Given the description of an element on the screen output the (x, y) to click on. 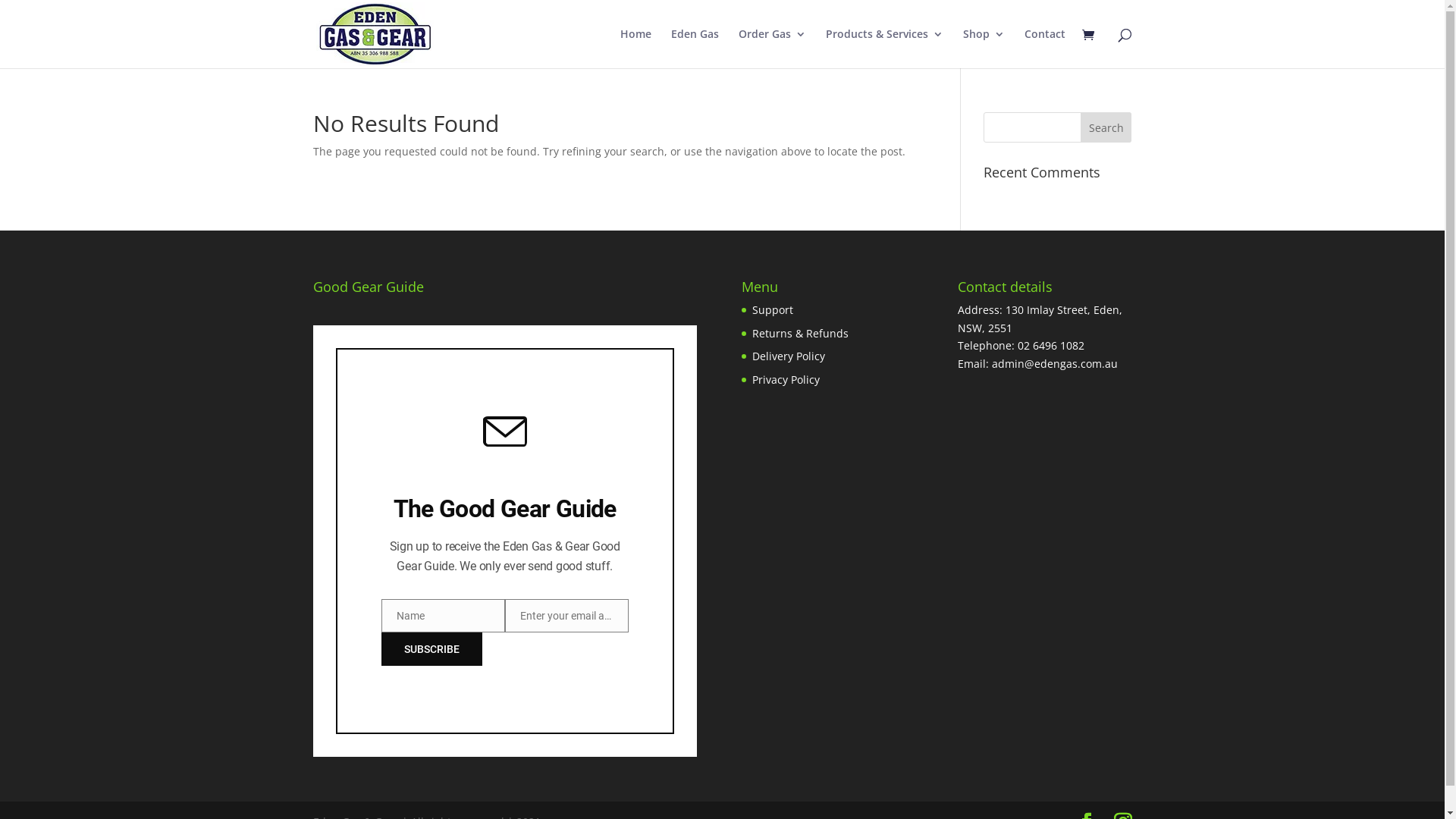
Returns & Refunds Element type: text (800, 333)
admin@edengas.com.au Element type: text (1054, 363)
Eden Gas Element type: text (694, 48)
Contact Element type: text (1043, 48)
Home Element type: text (635, 48)
Products & Services Element type: text (883, 48)
Delivery Policy Element type: text (788, 355)
Support Element type: text (772, 309)
Search Element type: text (1106, 127)
SUBSCRIBE Element type: text (430, 648)
Privacy Policy Element type: text (785, 379)
Order Gas Element type: text (772, 48)
02 6496 1082 Element type: text (1050, 345)
Shop Element type: text (983, 48)
